Given the description of an element on the screen output the (x, y) to click on. 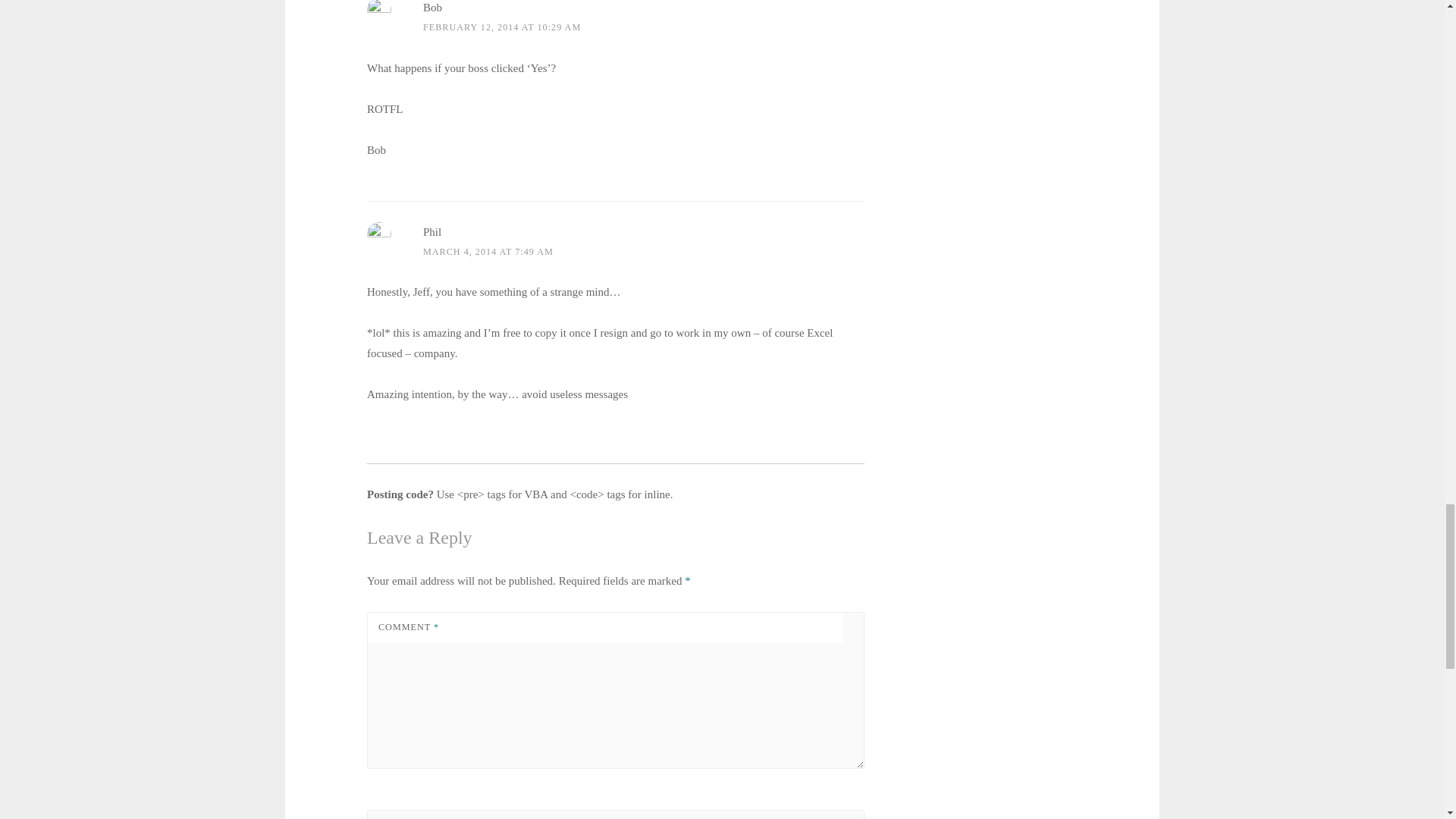
Phil (432, 232)
FEBRUARY 12, 2014 AT 10:29 AM (501, 27)
MARCH 4, 2014 AT 7:49 AM (488, 251)
